Given the description of an element on the screen output the (x, y) to click on. 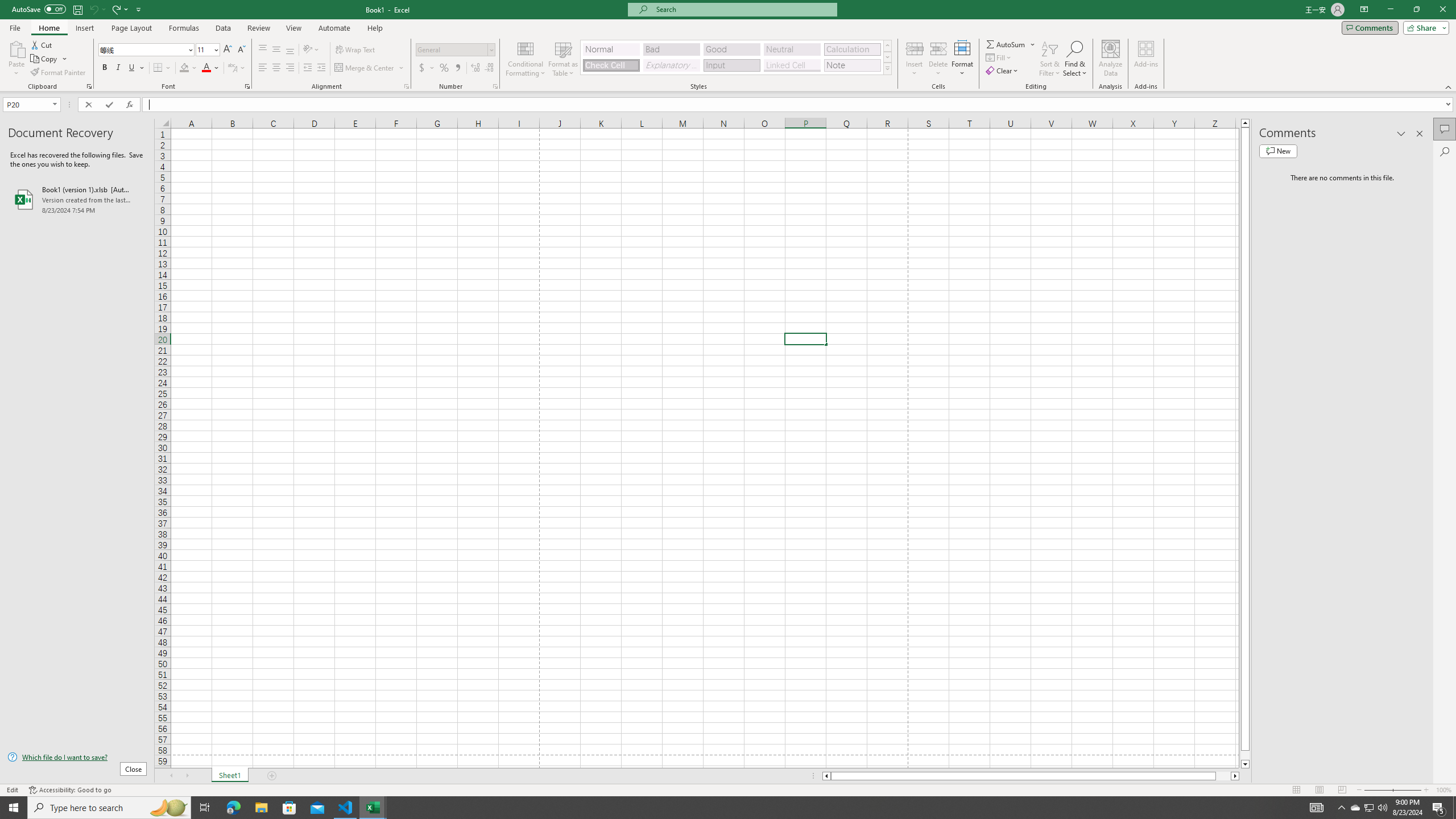
Decrease Font Size (240, 49)
Middle Align (276, 49)
New comment (1278, 151)
AutoSum (1011, 44)
Bottom Border (157, 67)
AutomationID: CellStylesGallery (736, 57)
Format Cell Alignment (405, 85)
Center (276, 67)
Percent Style (443, 67)
Fill Color (188, 67)
Bottom Align (290, 49)
